Given the description of an element on the screen output the (x, y) to click on. 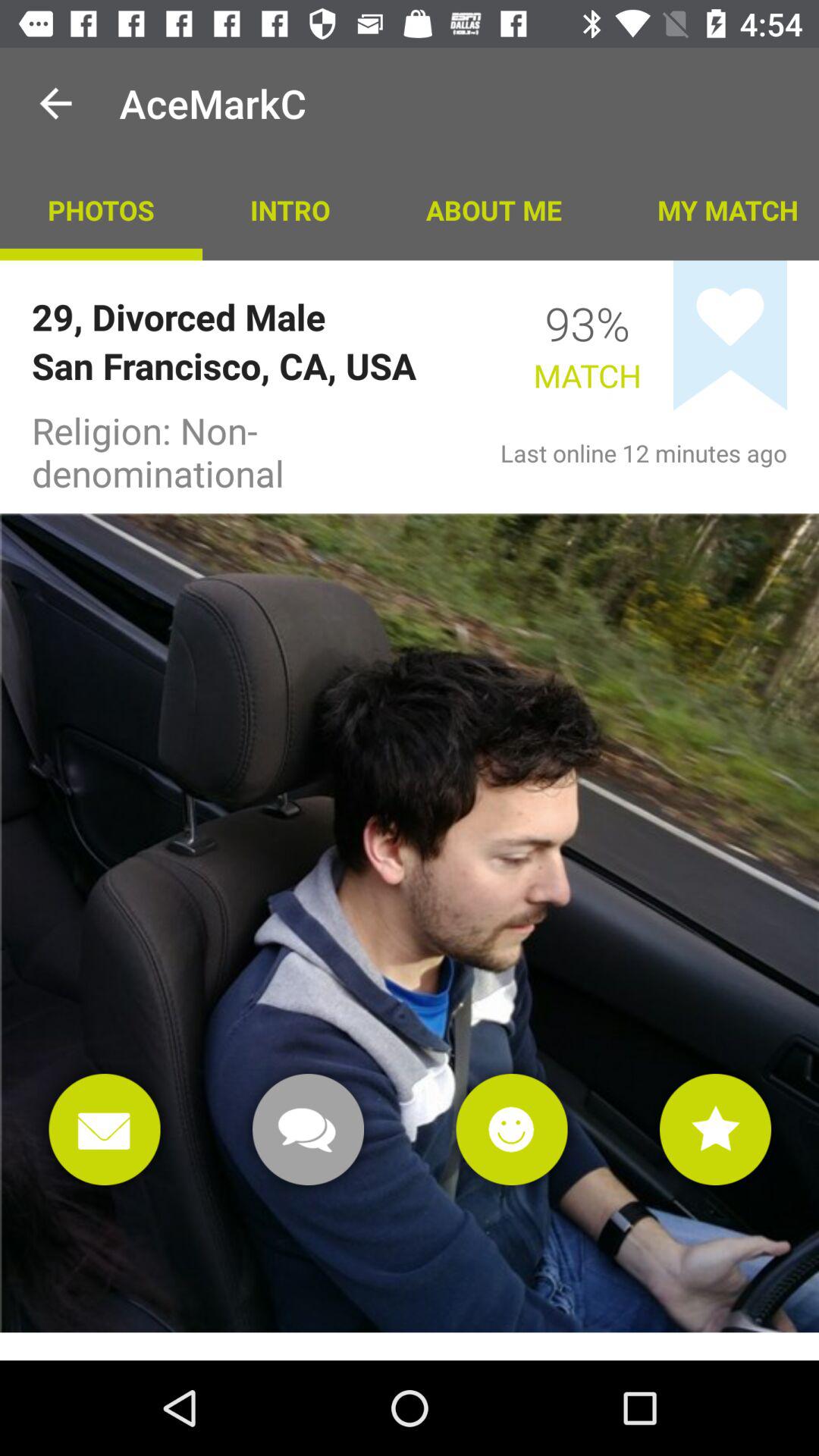
turn on icon next to match icon (730, 335)
